Given the description of an element on the screen output the (x, y) to click on. 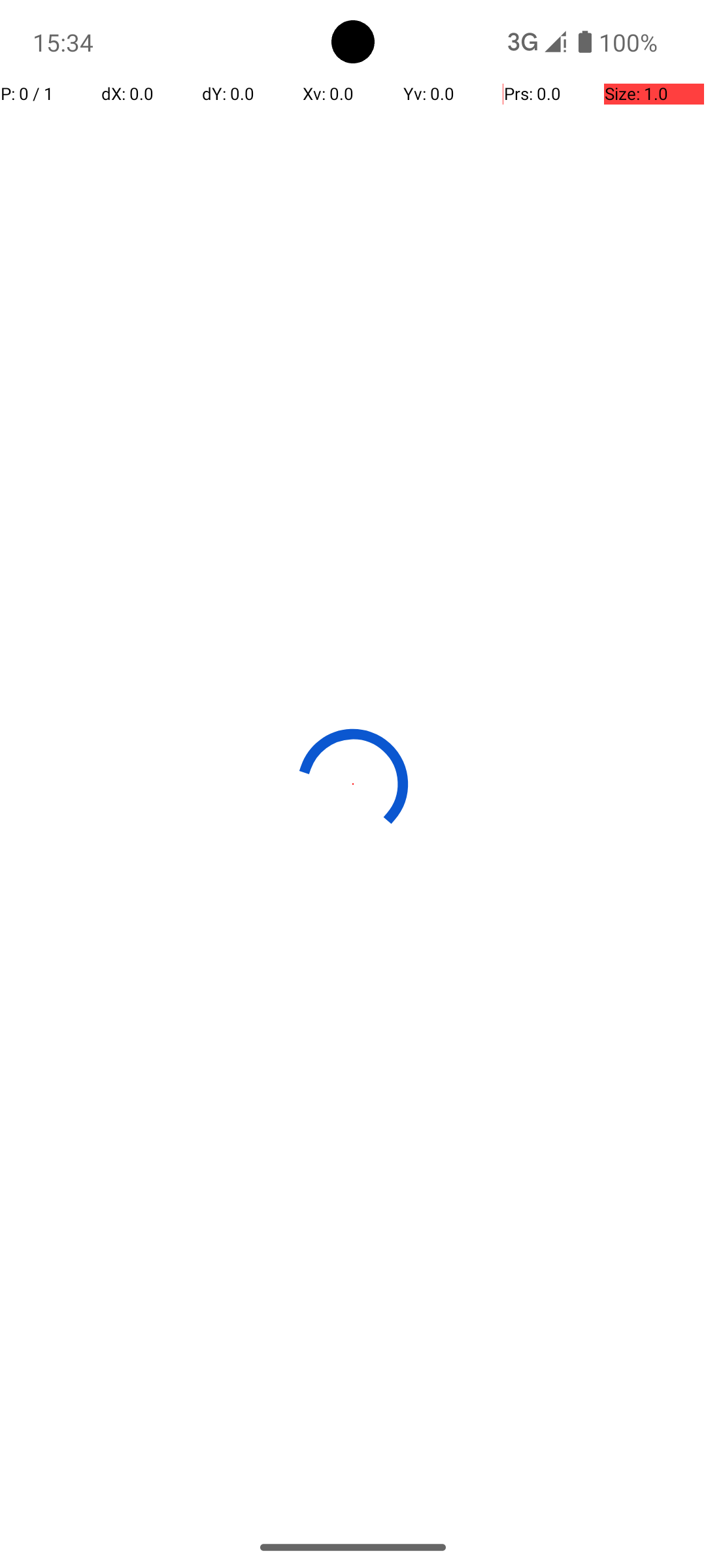
Navigate up Element type: android.widget.ImageButton (48, 138)
Help Element type: android.view.ViewGroup (353, 137)
